Given the description of an element on the screen output the (x, y) to click on. 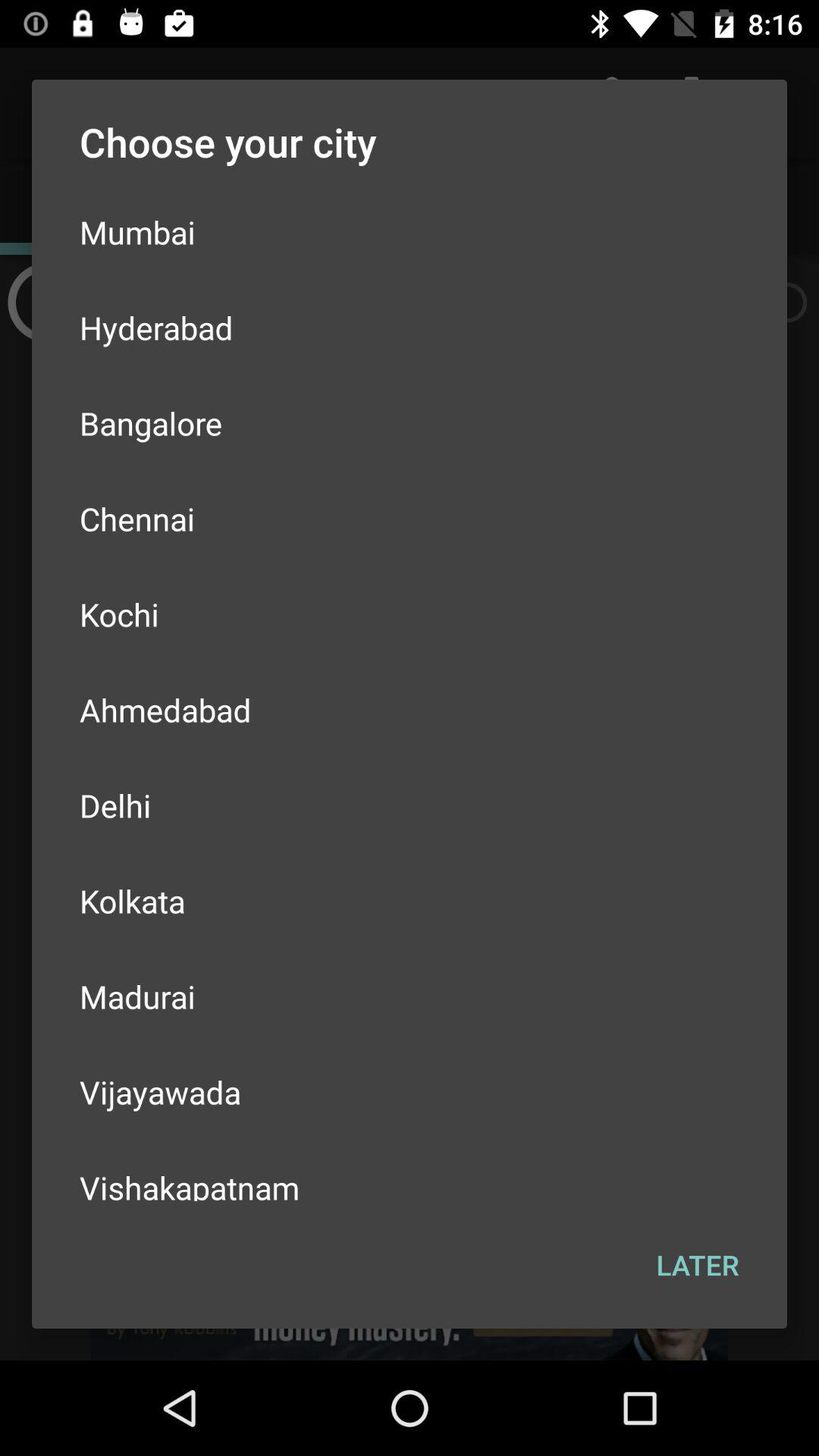
swipe to bangalore icon (409, 422)
